Given the description of an element on the screen output the (x, y) to click on. 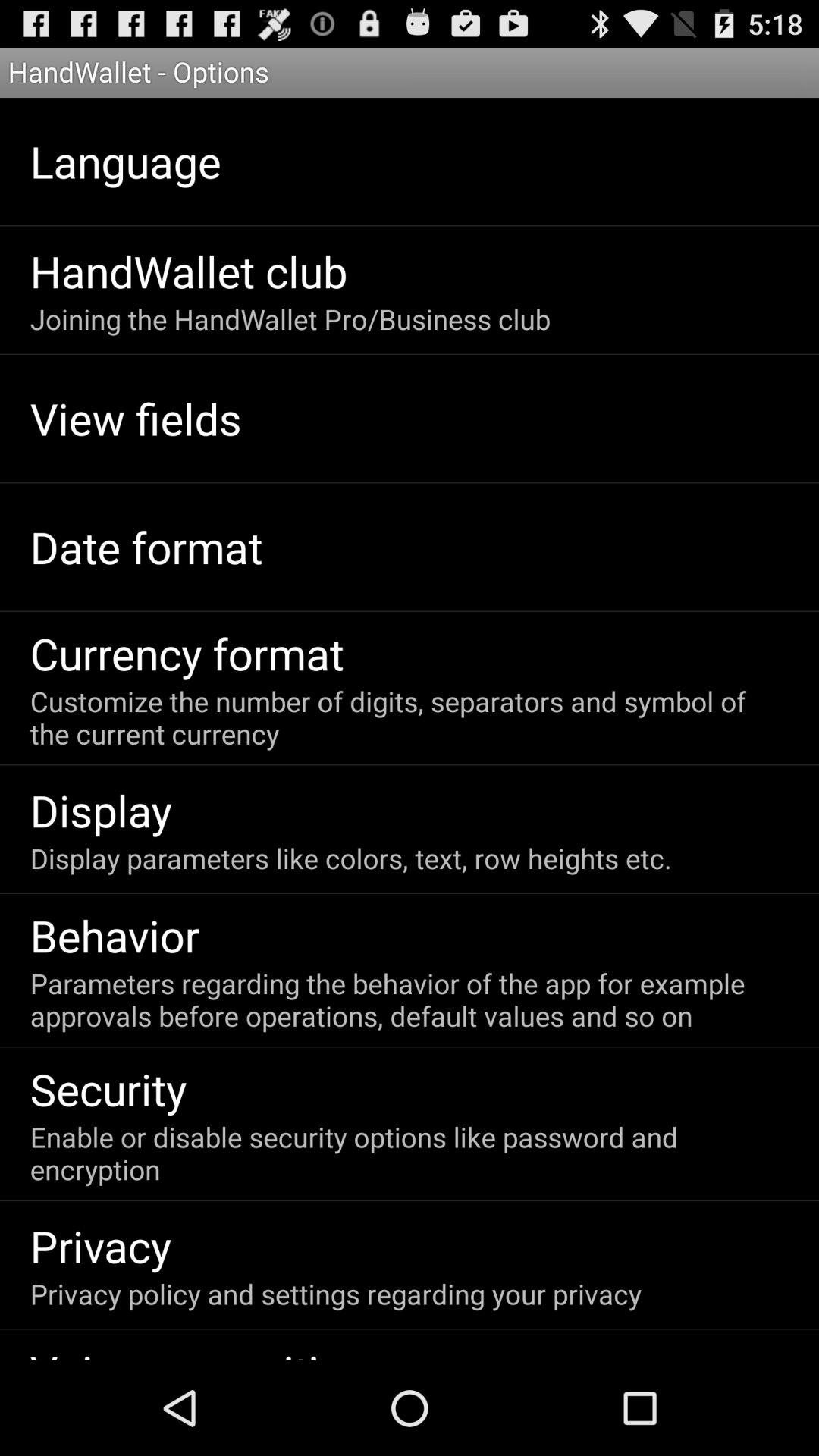
click app above view fields app (290, 318)
